Given the description of an element on the screen output the (x, y) to click on. 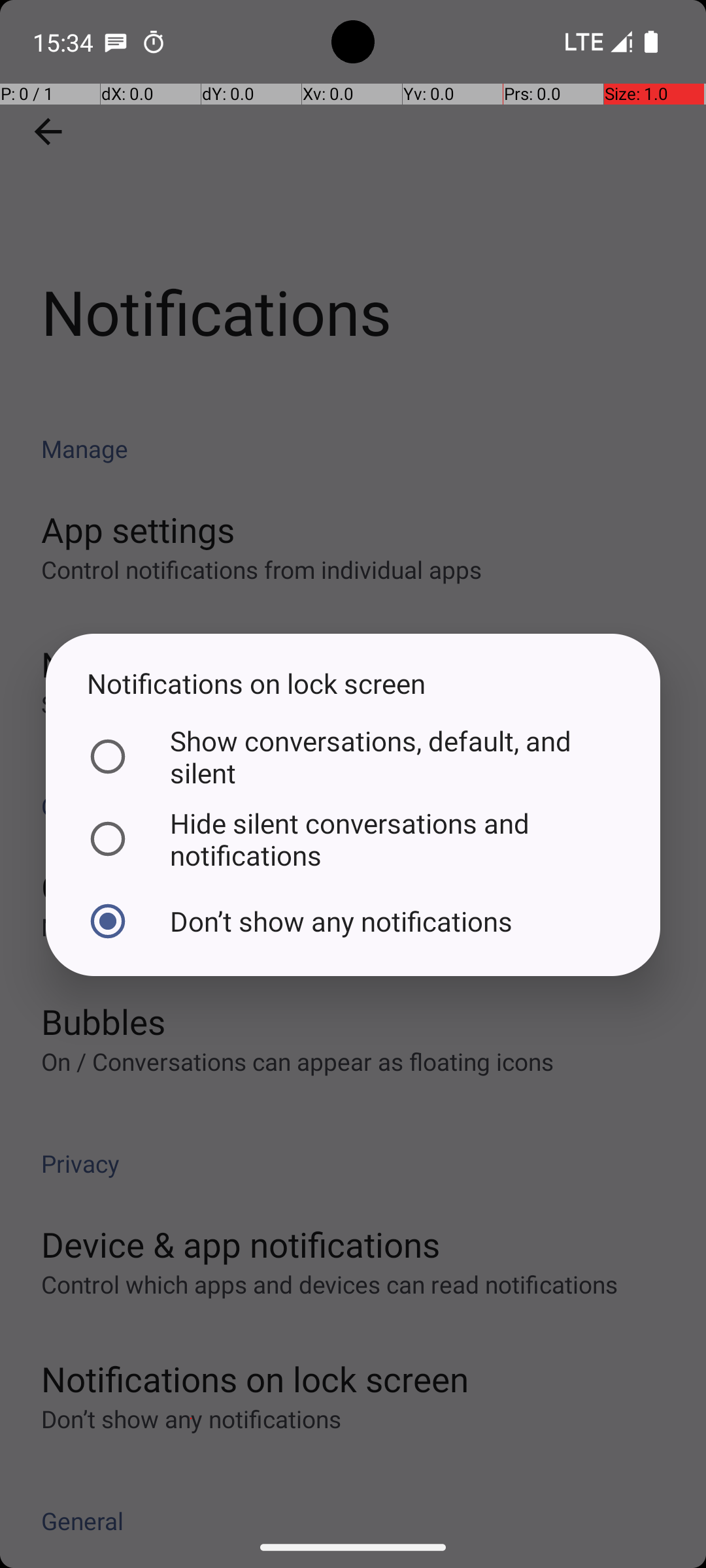
Show conversations, default, and silent Element type: android.widget.CheckedTextView (349, 756)
Don’t show any notifications Element type: android.widget.CheckedTextView (349, 920)
